Given the description of an element on the screen output the (x, y) to click on. 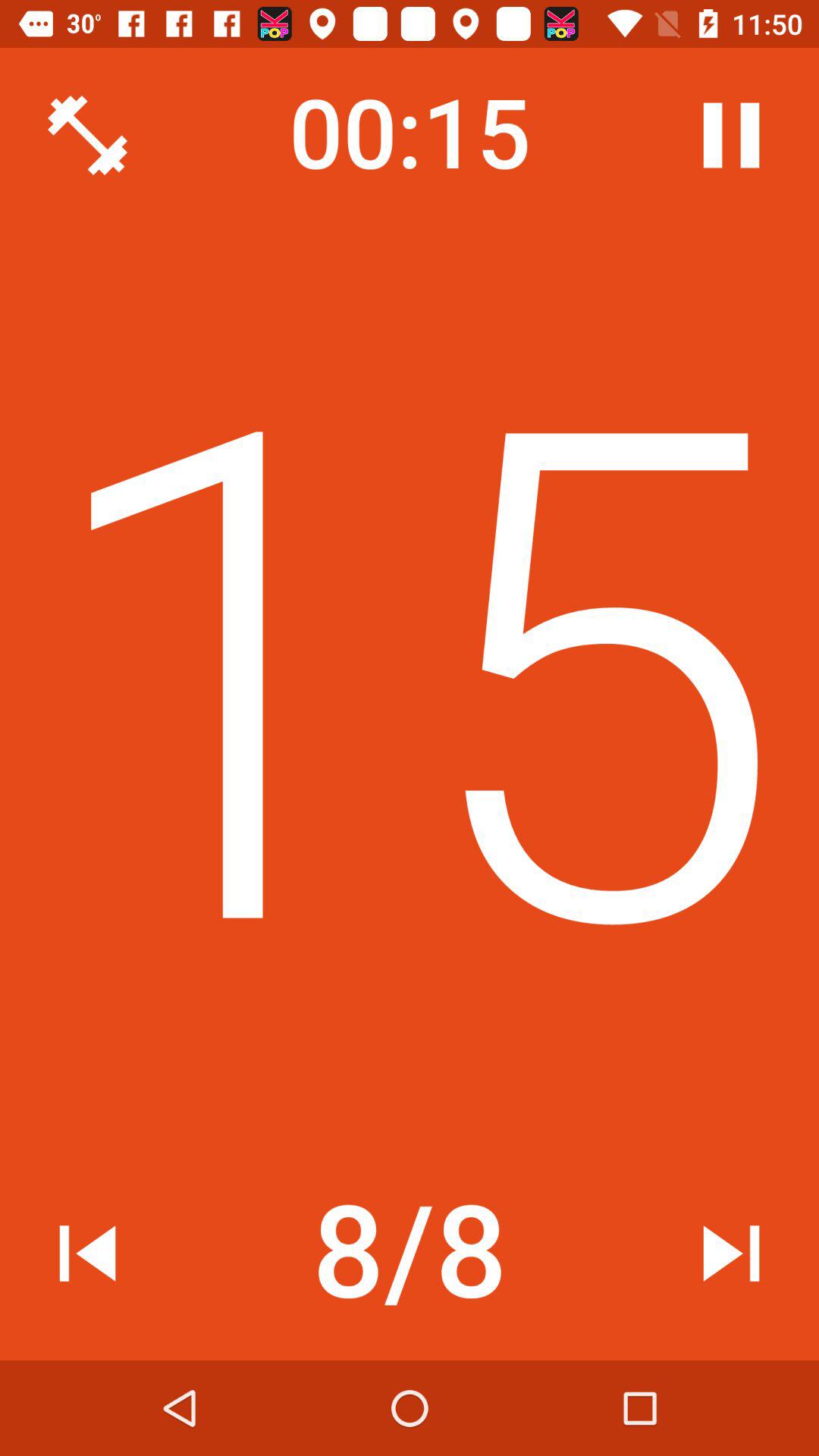
choose the icon at the bottom right corner (731, 1253)
